Given the description of an element on the screen output the (x, y) to click on. 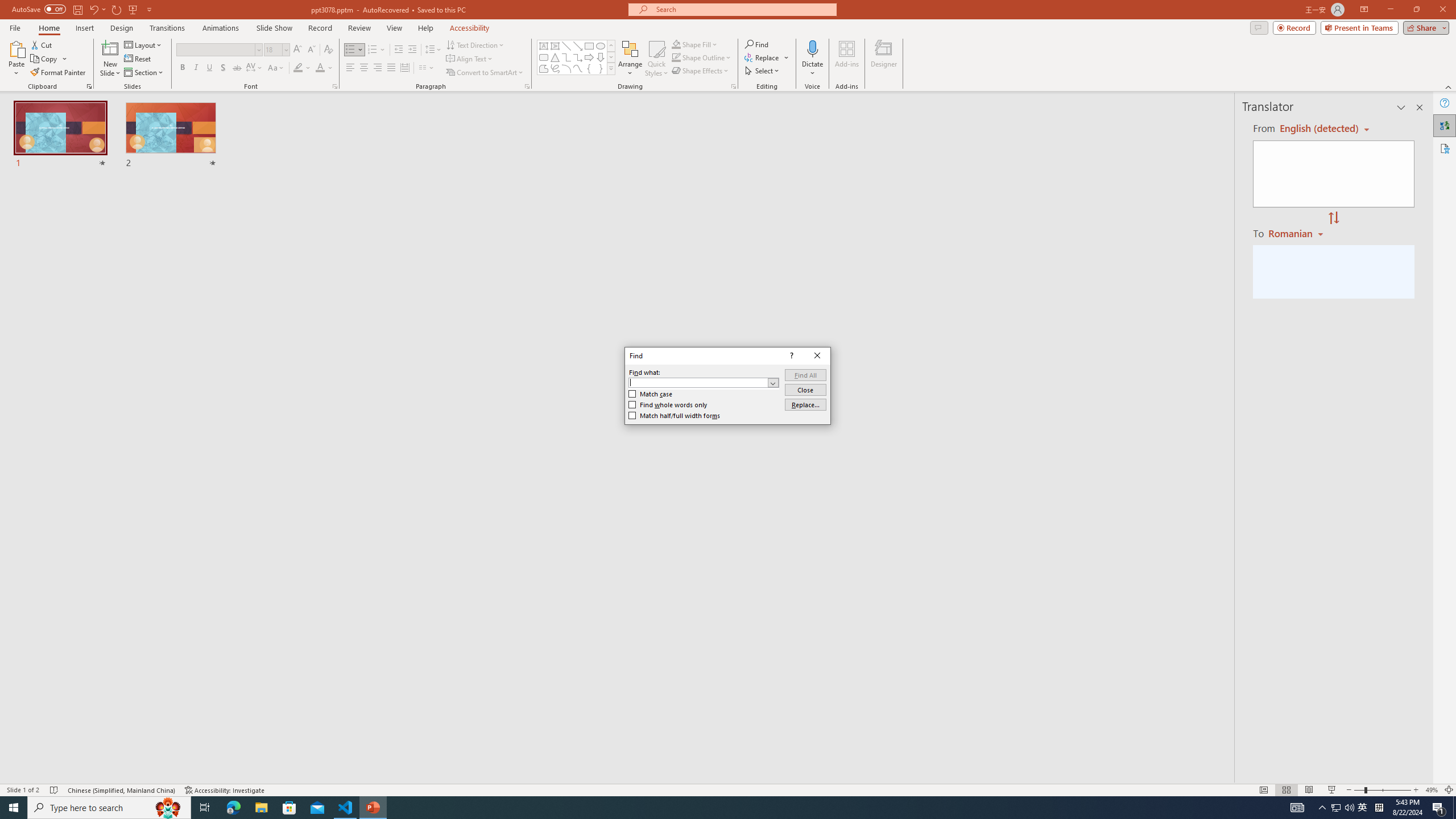
Find what (703, 382)
Find All (805, 374)
